Given the description of an element on the screen output the (x, y) to click on. 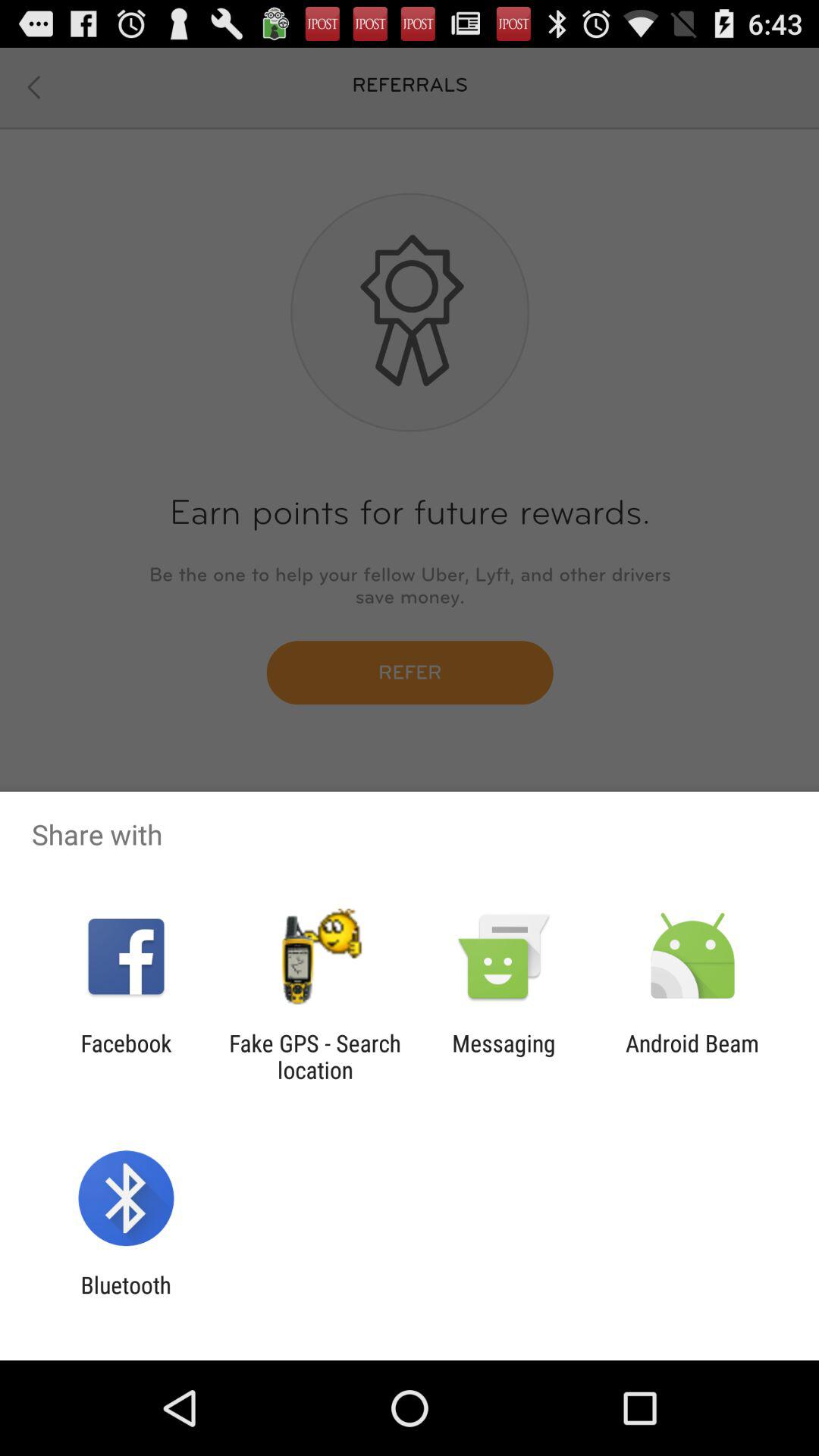
scroll until the messaging (503, 1056)
